Given the description of an element on the screen output the (x, y) to click on. 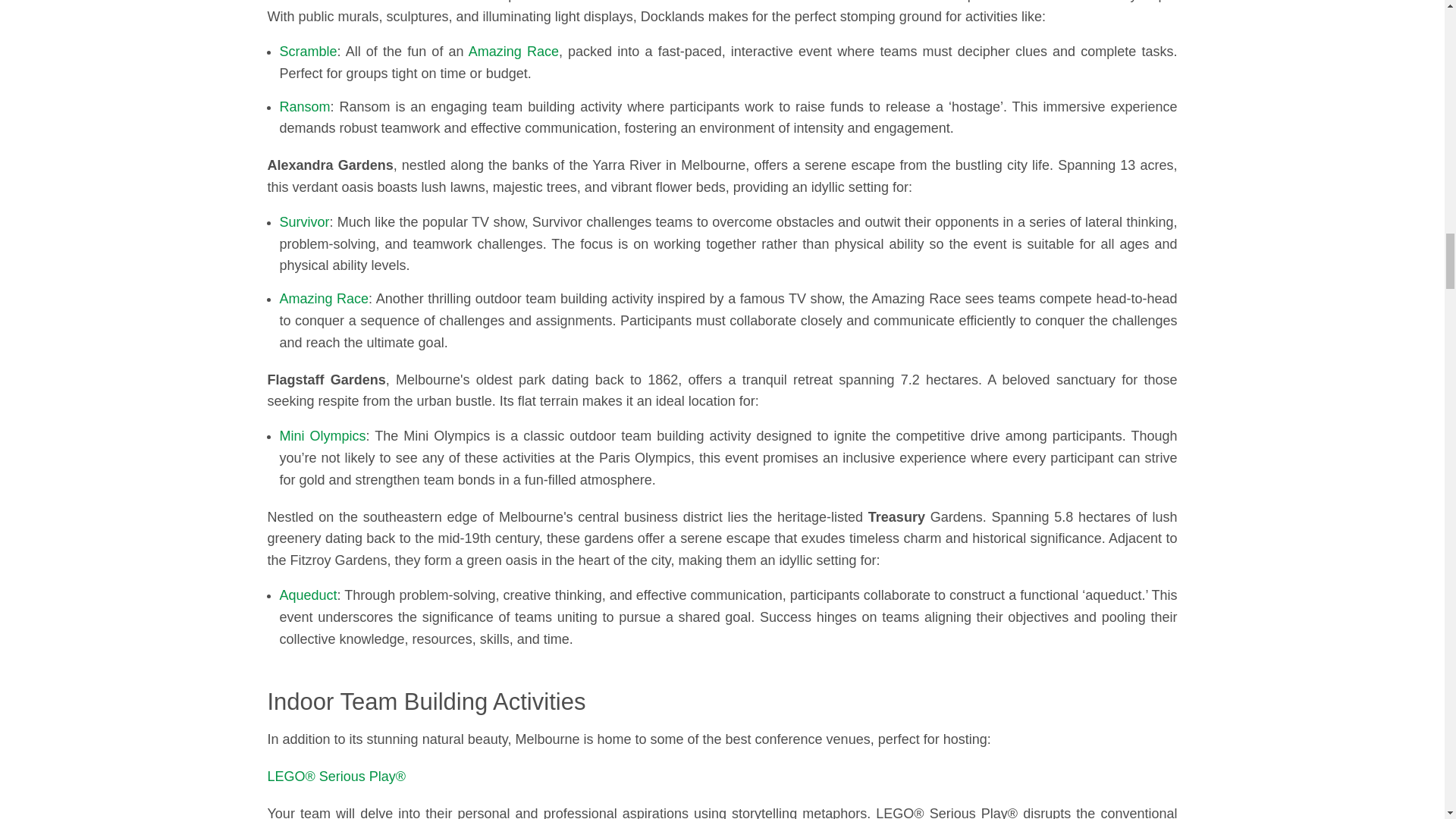
Amazing Race (323, 298)
Scramble (307, 51)
Ransom (304, 106)
Amazing Race (513, 51)
Mini Olympics (322, 435)
Aqueduct (307, 595)
Survivor (304, 222)
